Given the description of an element on the screen output the (x, y) to click on. 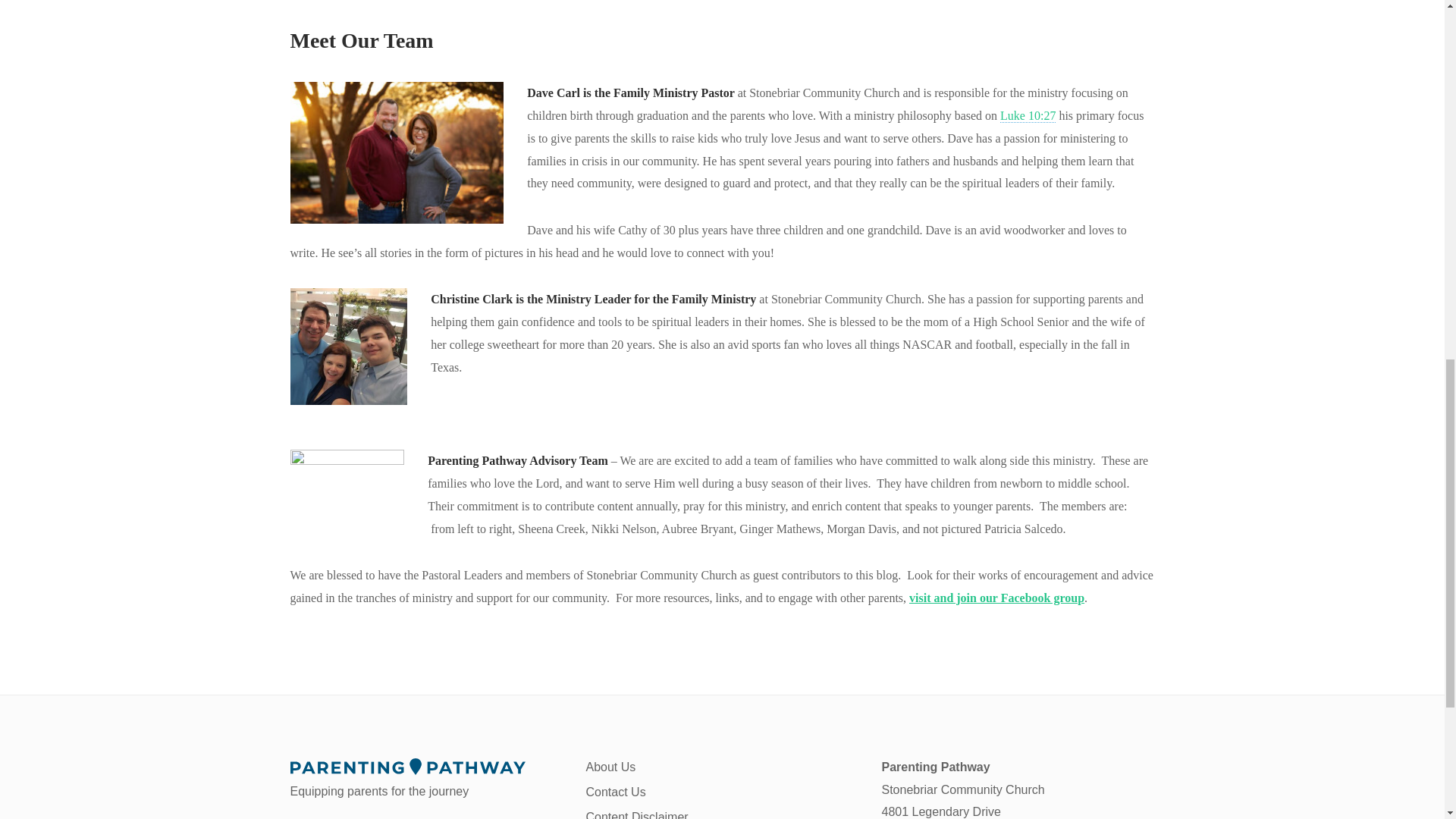
visit and join our Facebook group (996, 597)
Home Page (425, 779)
Content Disclaimer (636, 814)
About Us (609, 766)
Equipping parents for the journey (425, 779)
Luke 10:27 (1027, 115)
Contact Us (615, 791)
